Given the description of an element on the screen output the (x, y) to click on. 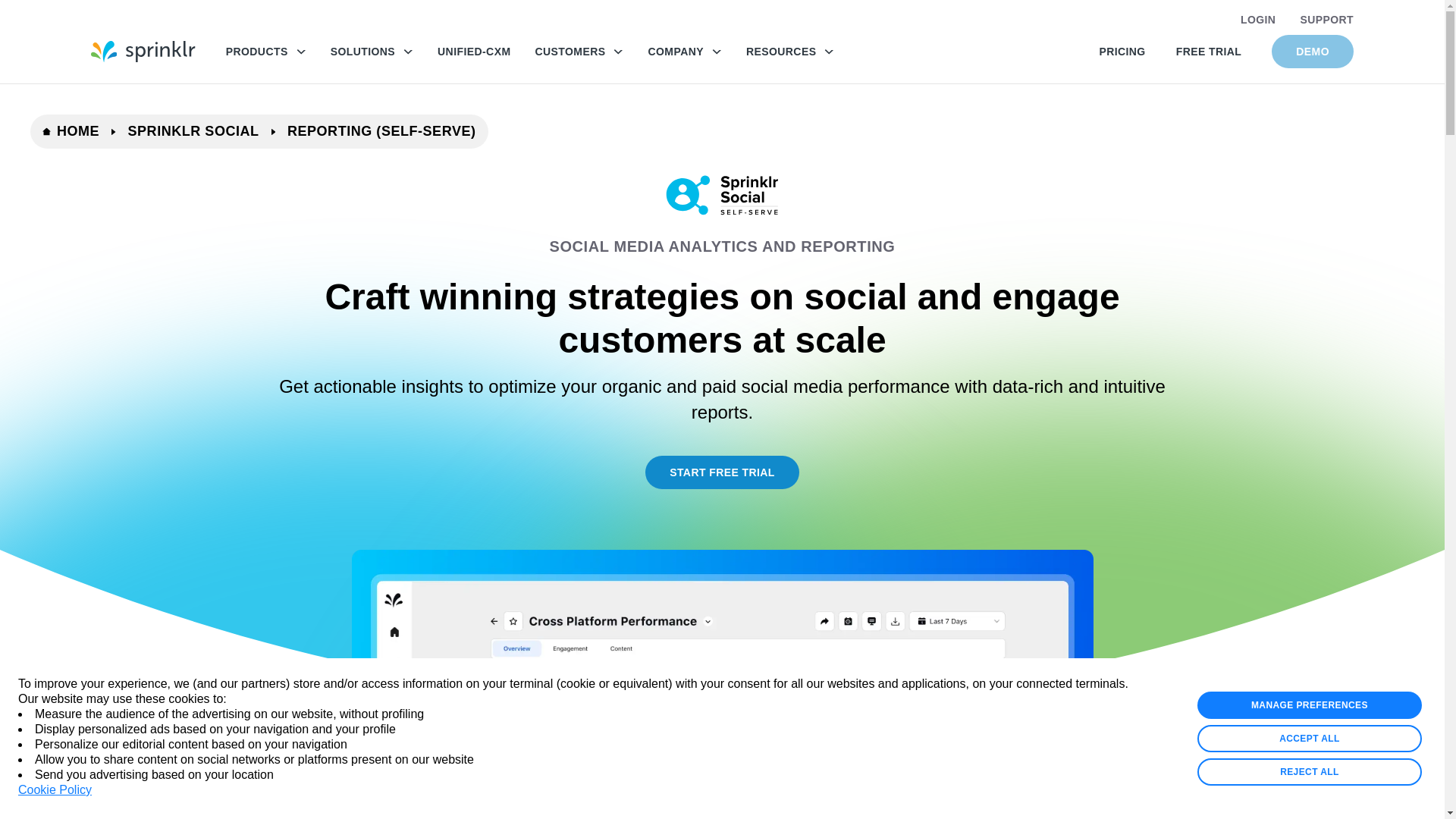
LOGIN (1257, 19)
Sprinklr (142, 51)
SUPPORT (1327, 19)
REJECT ALL (1309, 771)
MANAGE PREFERENCES (1309, 705)
ACCEPT ALL (1309, 738)
Cookie Policy (54, 789)
PRODUCTS (265, 51)
